Given the description of an element on the screen output the (x, y) to click on. 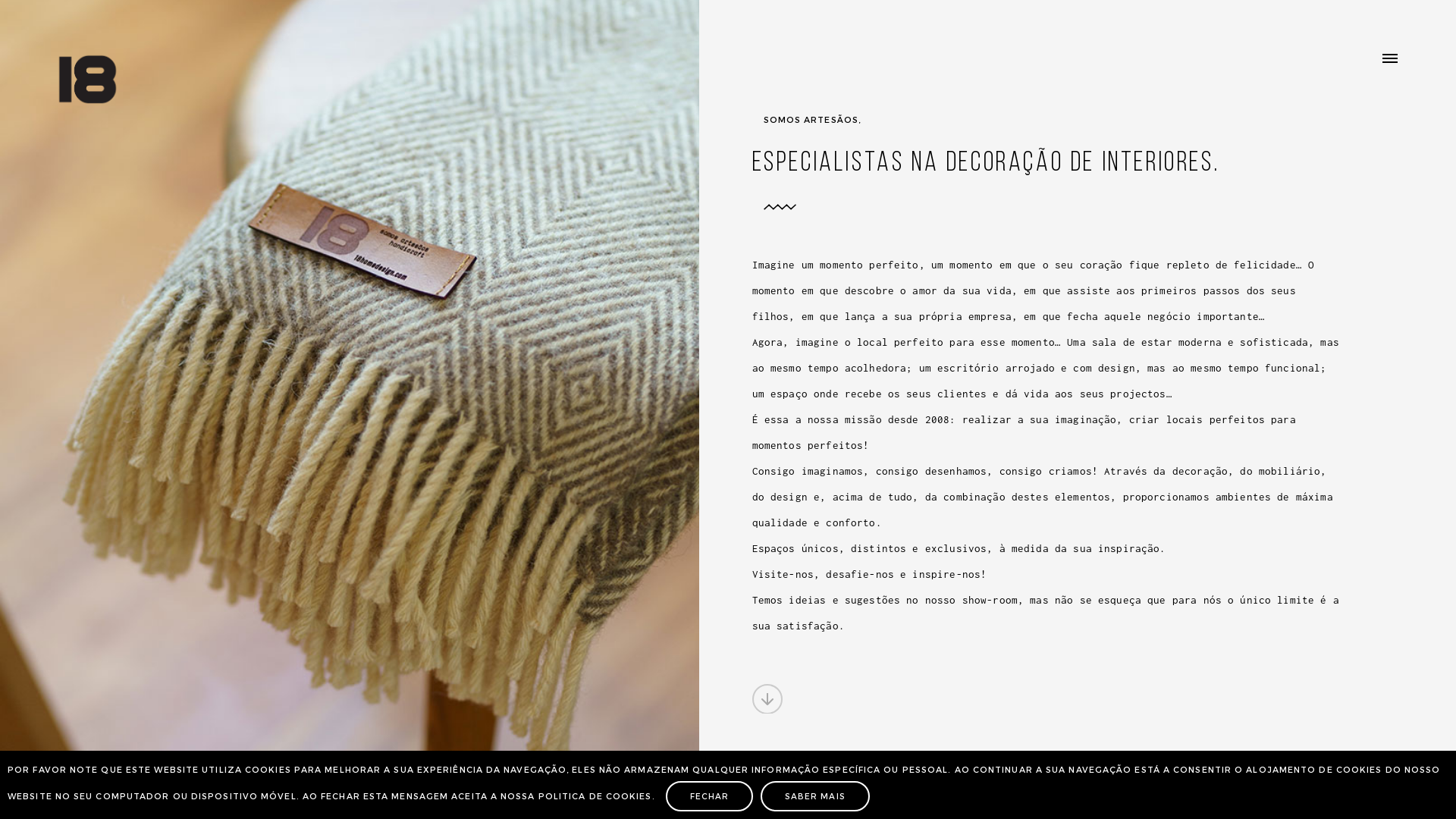
SABER MAIS Element type: text (814, 796)
FECHAR Element type: text (709, 796)
CONTACTE-NOS Element type: text (814, 698)
